Given the description of an element on the screen output the (x, y) to click on. 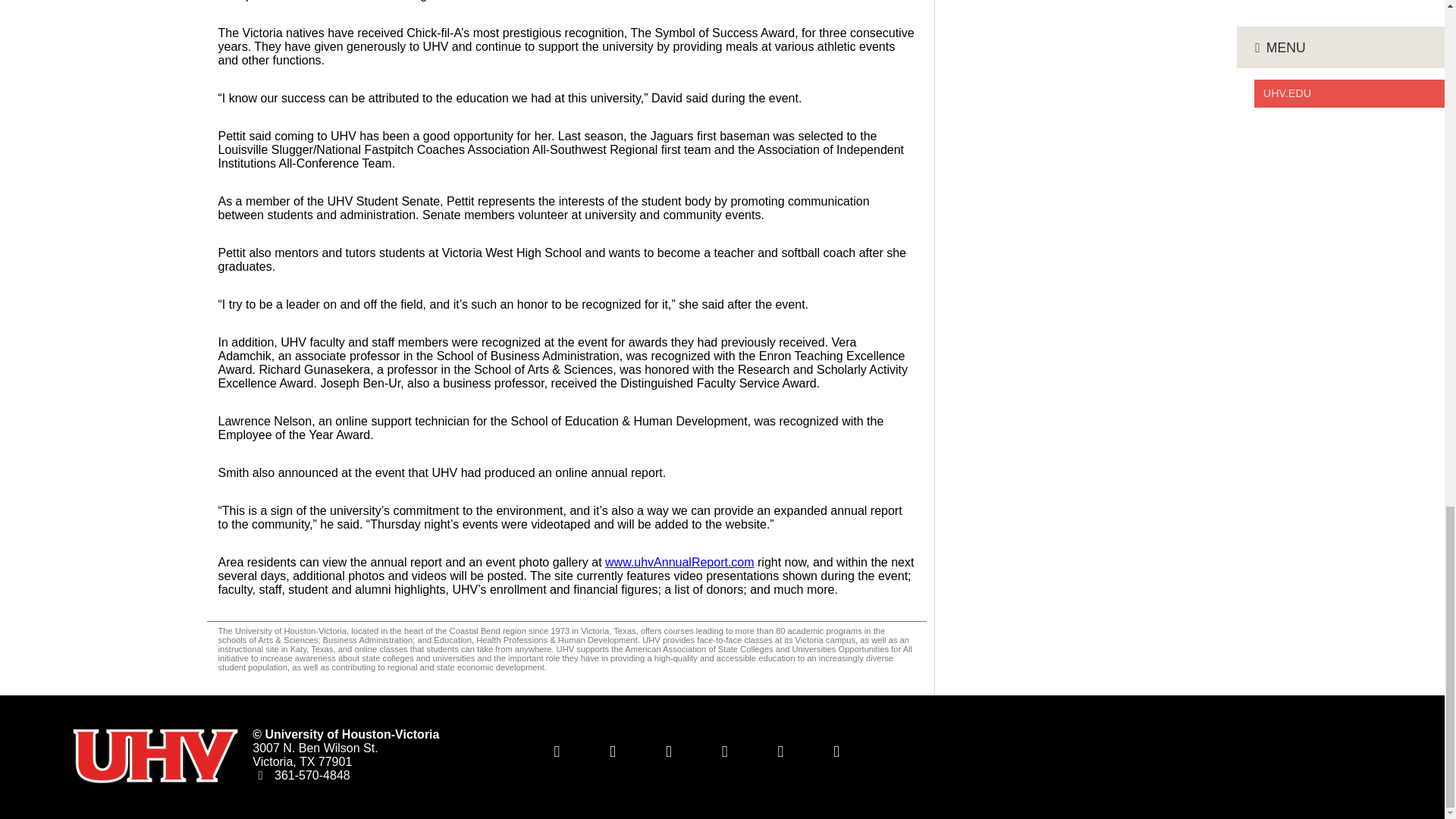
Facebook (611, 750)
Instagram (780, 750)
www.uhvAnnualReport.com (679, 562)
Twitter (556, 750)
YouTube (724, 750)
LinkedIn (668, 750)
UHVConnect (836, 750)
